Given the description of an element on the screen output the (x, y) to click on. 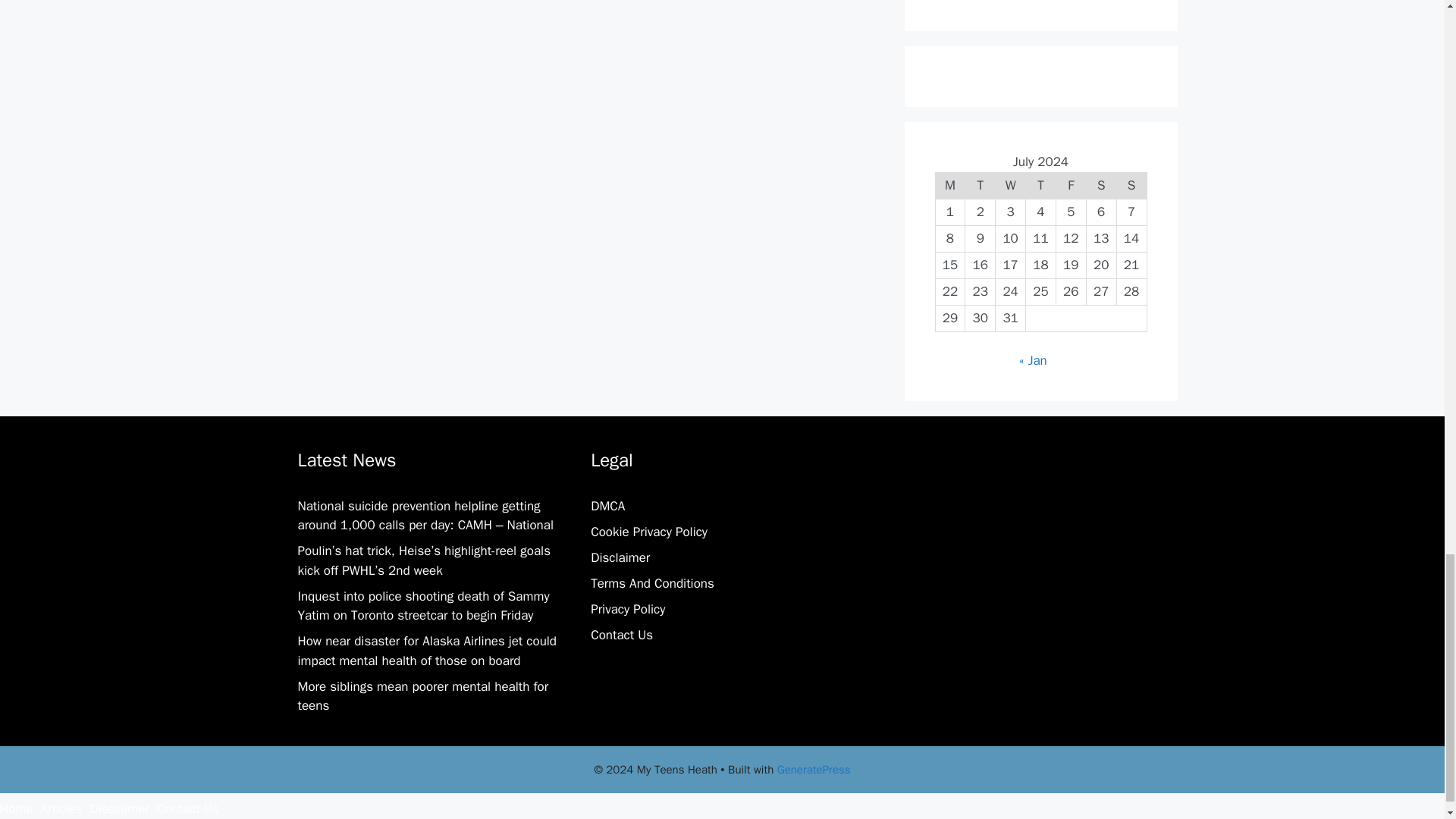
Wednesday (1010, 185)
Friday (1070, 185)
Monday (949, 185)
Sunday (1131, 185)
Thursday (1041, 185)
Saturday (1101, 185)
Tuesday (980, 185)
